Given the description of an element on the screen output the (x, y) to click on. 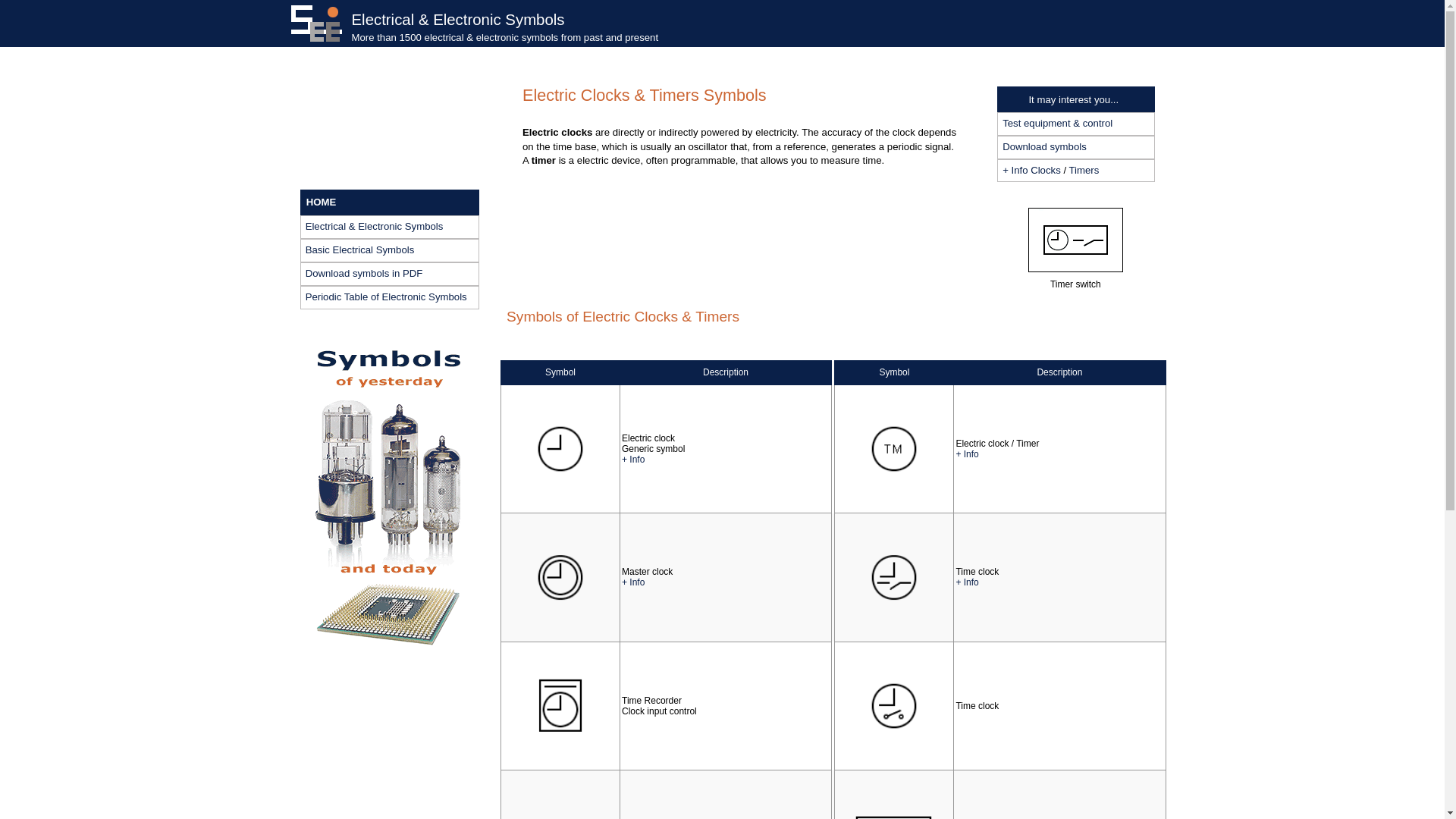
HOME (389, 202)
Download symbols in PDF (389, 273)
Basic Electrical Symbols (389, 250)
Periodic Table of Electronic Symbols (389, 297)
Advertisement (750, 247)
Timers (1083, 170)
Advertisement (390, 761)
Electrical and electronics symbols in PDF (1075, 146)
Advertisement (389, 121)
Download symbols (1075, 146)
